Given the description of an element on the screen output the (x, y) to click on. 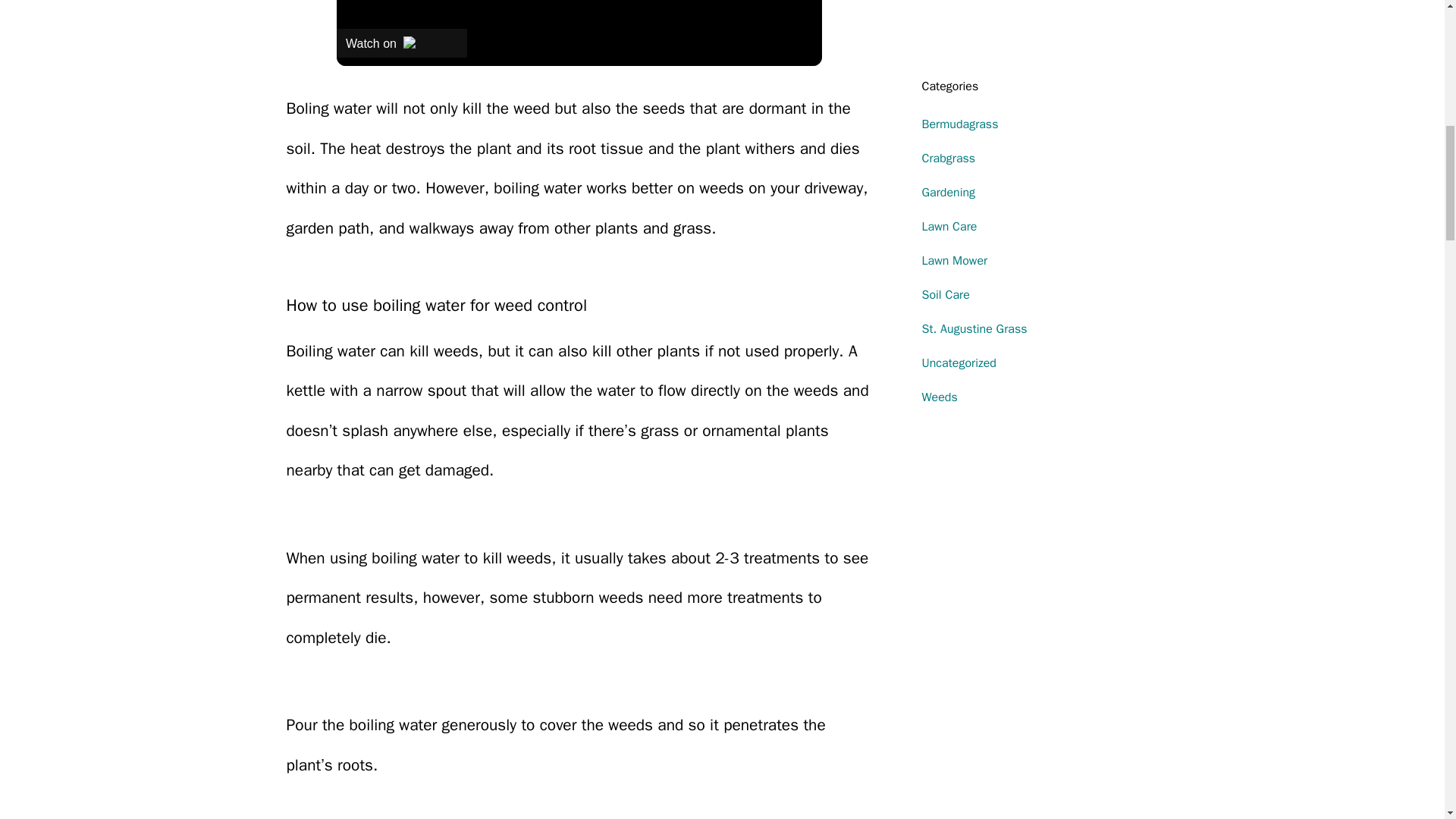
Crabgrass (948, 158)
Lawn Care (948, 226)
Watch on (401, 42)
Gardening (948, 192)
Bermudagrass (959, 124)
Lawn Mower (954, 260)
